Given the description of an element on the screen output the (x, y) to click on. 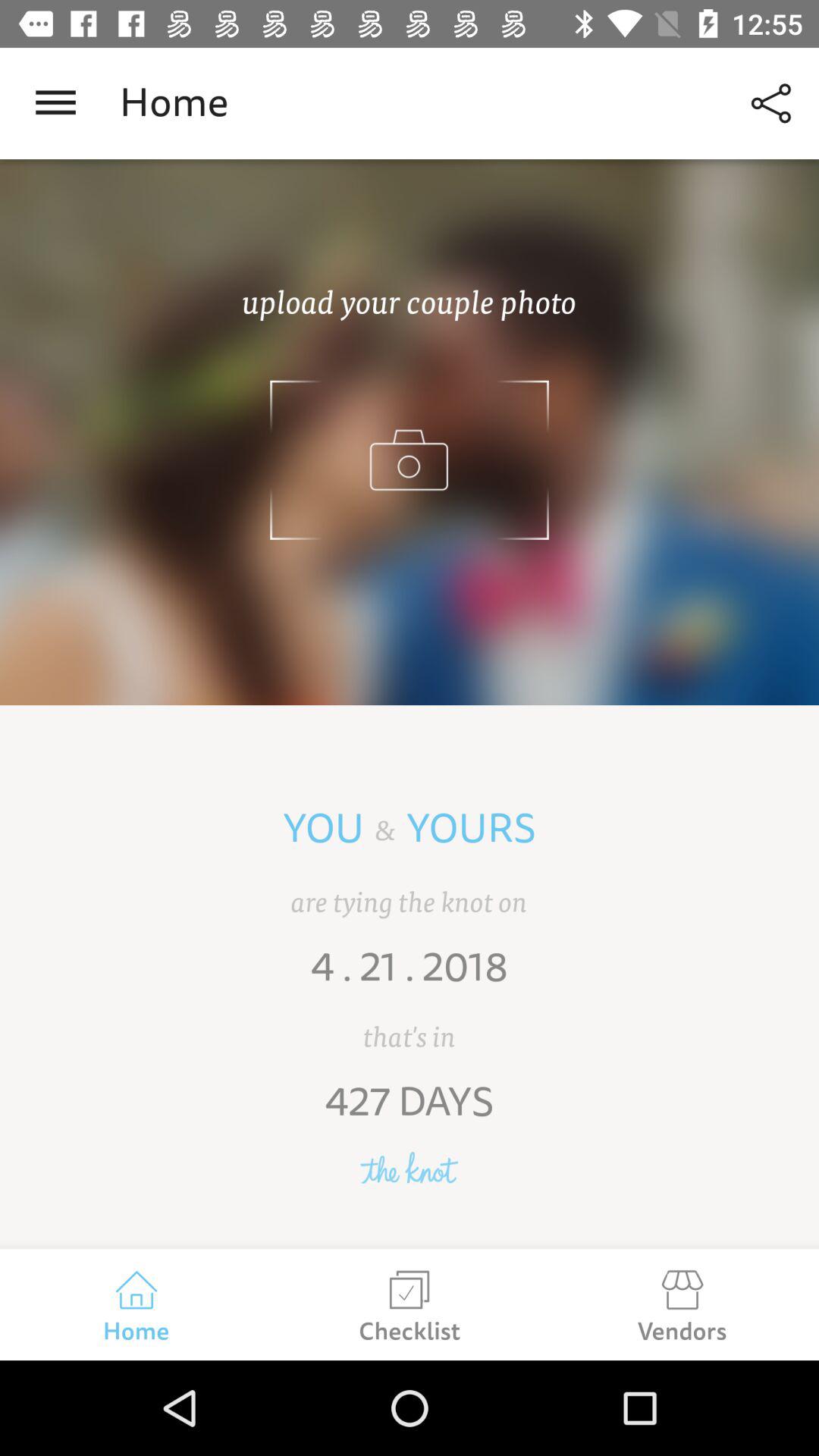
open options (55, 103)
